Given the description of an element on the screen output the (x, y) to click on. 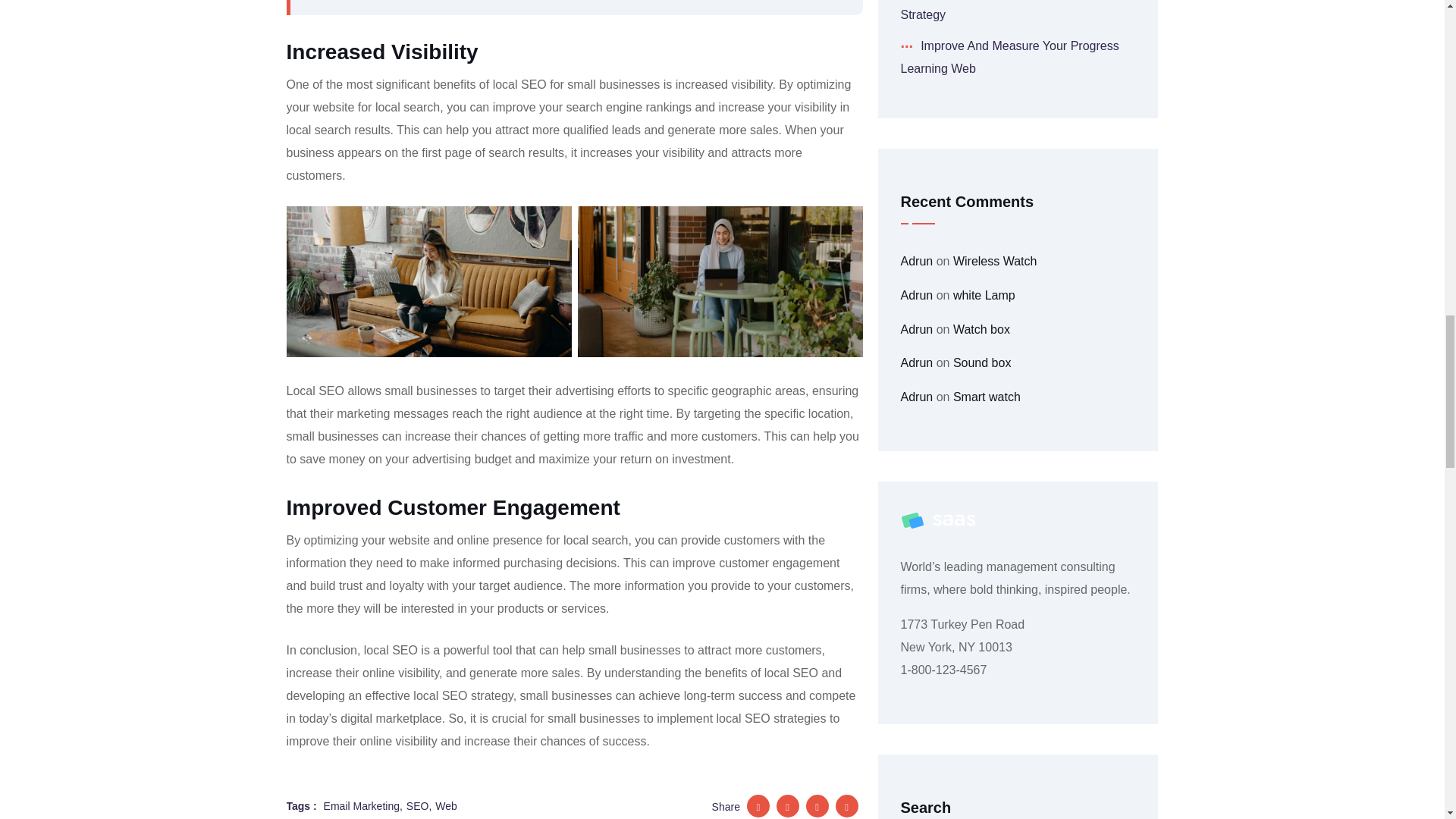
SEO (418, 805)
Email Marketing (363, 805)
Web (446, 805)
